Given the description of an element on the screen output the (x, y) to click on. 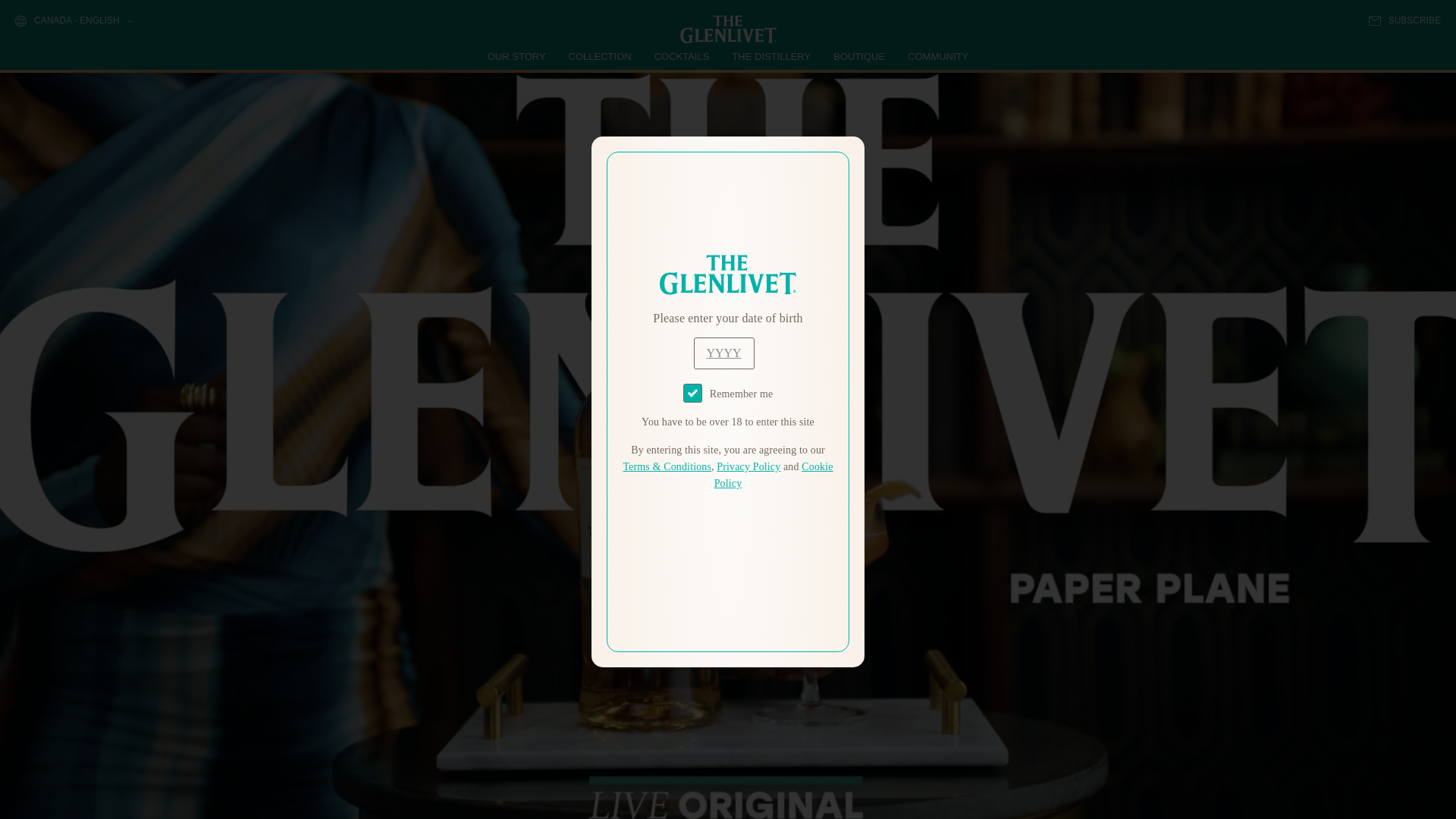
COCKTAILS (681, 56)
OUR STORY (516, 56)
CANADA - ENGLISH (73, 21)
SUBSCRIBE (1404, 20)
BOUTIQUE (858, 56)
THE DISTILLERY (771, 56)
year (723, 353)
COMMUNITY (937, 56)
Cookie Policy (773, 474)
COLLECTION (600, 56)
Privacy Policy (748, 466)
